Given the description of an element on the screen output the (x, y) to click on. 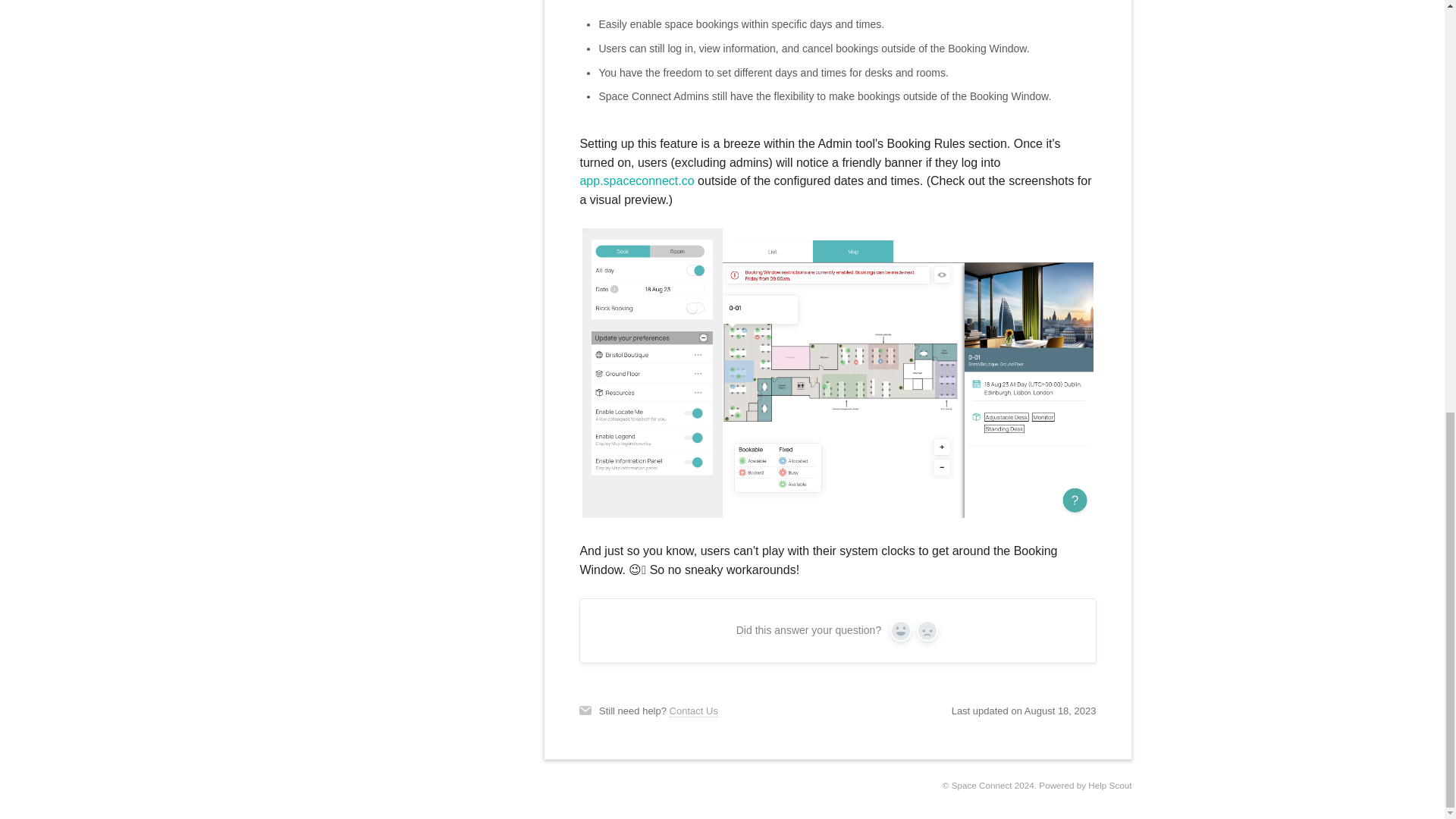
app.spaceconnect.co (636, 180)
No (927, 630)
Space Connect (981, 785)
Yes (900, 630)
Help Scout (1109, 785)
Contact Us (693, 711)
